Given the description of an element on the screen output the (x, y) to click on. 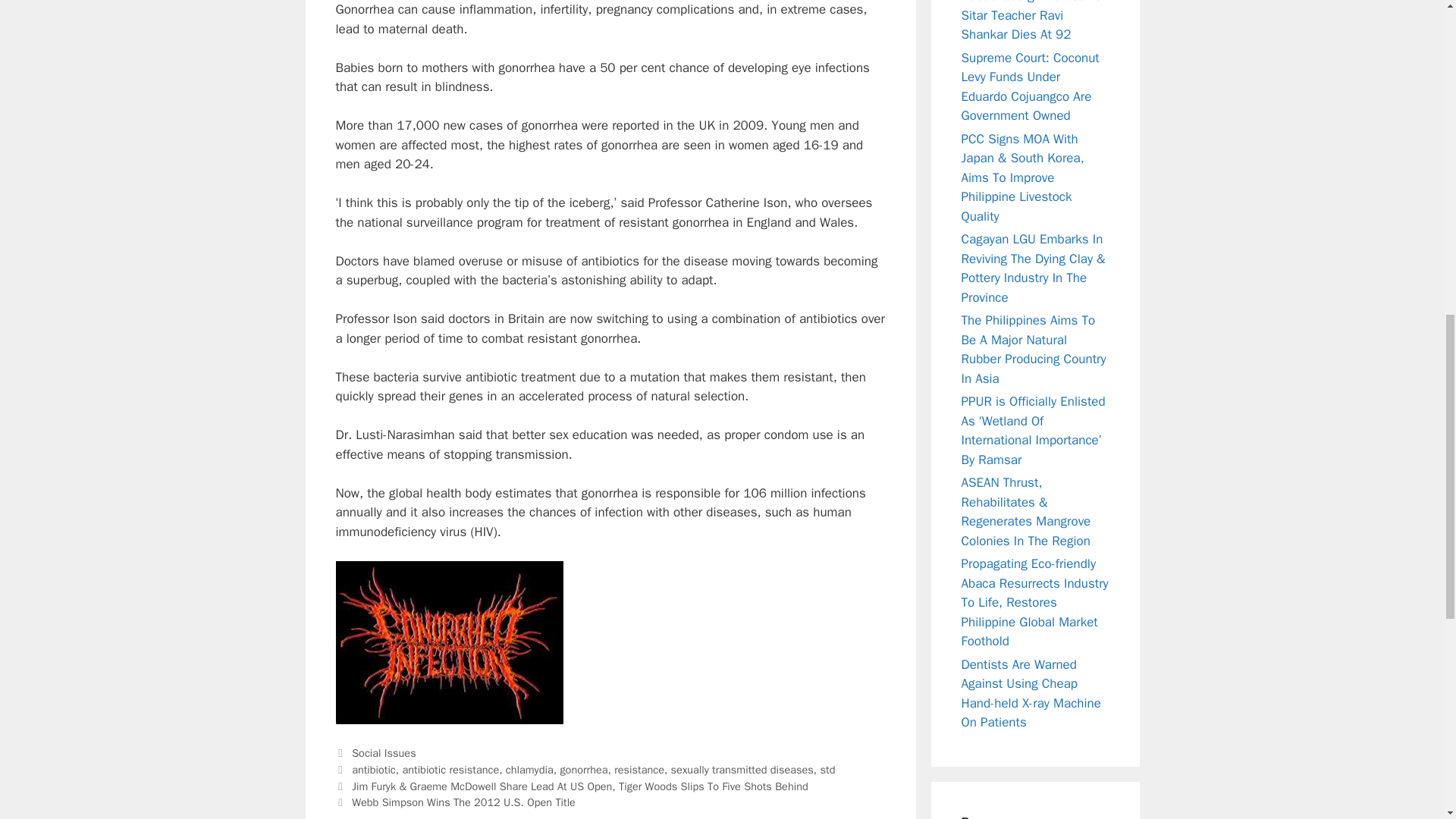
gonorrhea (583, 769)
antibiotic (374, 769)
std (828, 769)
chlamydia (529, 769)
Webb Simpson Wins The 2012 U.S. Open Title (463, 802)
Social Issues (383, 753)
resistance (638, 769)
sexually transmitted diseases (742, 769)
antibiotic resistance (450, 769)
gonorrhea infection (448, 642)
